Given the description of an element on the screen output the (x, y) to click on. 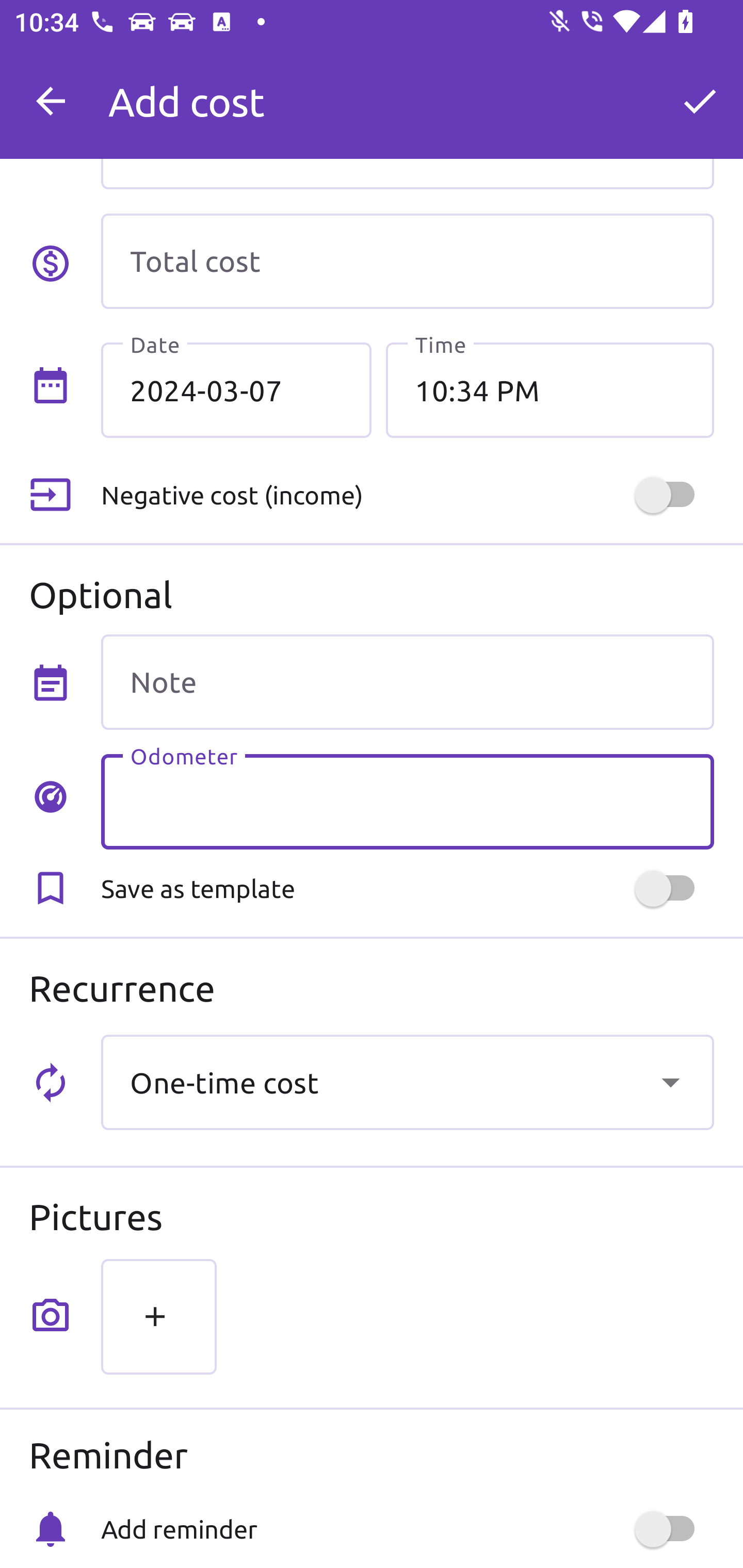
A No name 0 km (407, 92)
Navigate up (50, 101)
OK (699, 101)
Total cost  (407, 260)
2024-03-07 (236, 389)
10:34 PM (549, 389)
Negative cost (income) (407, 494)
Note (407, 682)
Odometer (407, 801)
Save as template (407, 887)
One-time cost (407, 1082)
Show dropdown menu (670, 1081)
Add reminder (407, 1529)
